Given the description of an element on the screen output the (x, y) to click on. 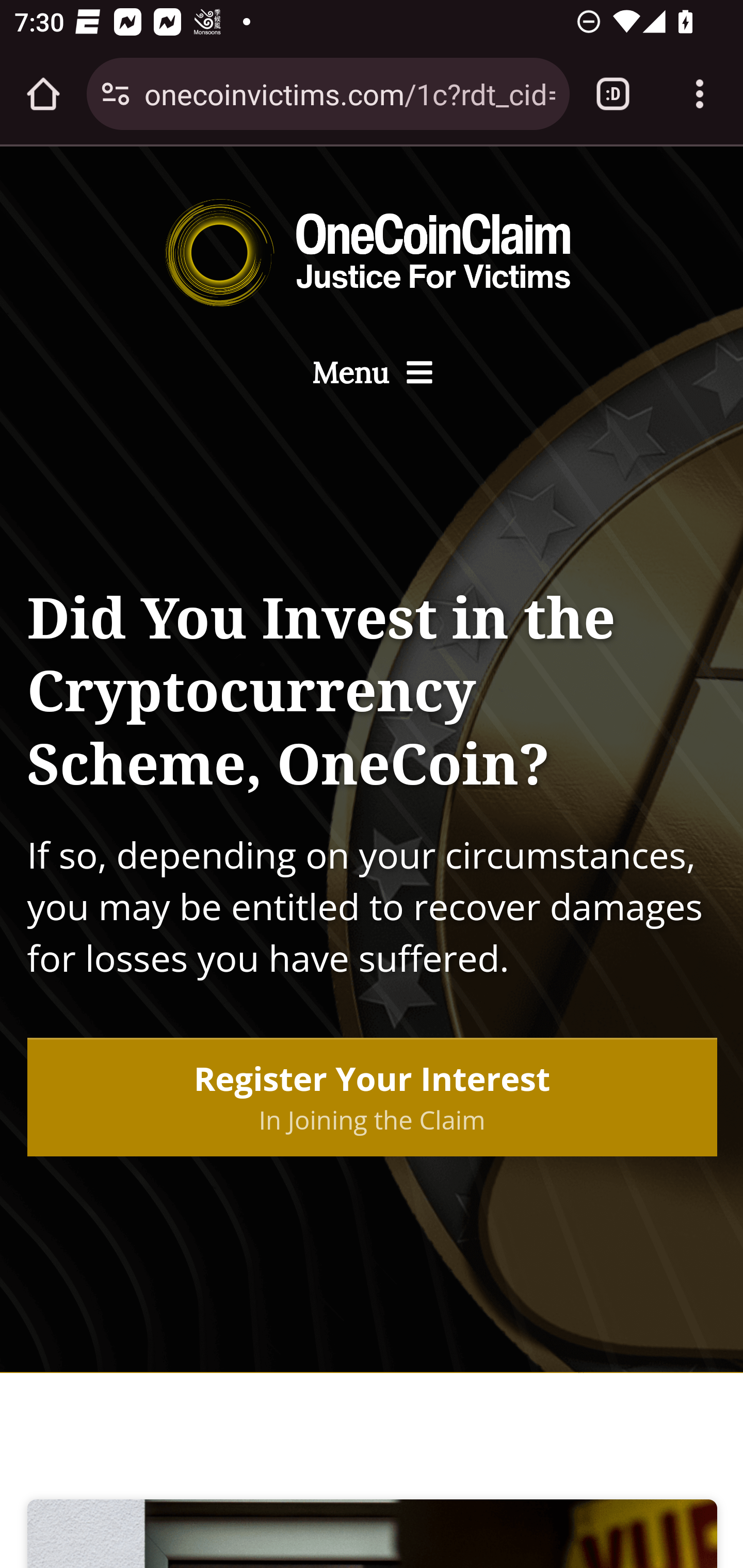
Open the home page (43, 93)
Connection is secure (115, 93)
Switch or close tabs (612, 93)
Customize and control Google Chrome (699, 93)
Menu  Menu  (371, 373)
